Given the description of an element on the screen output the (x, y) to click on. 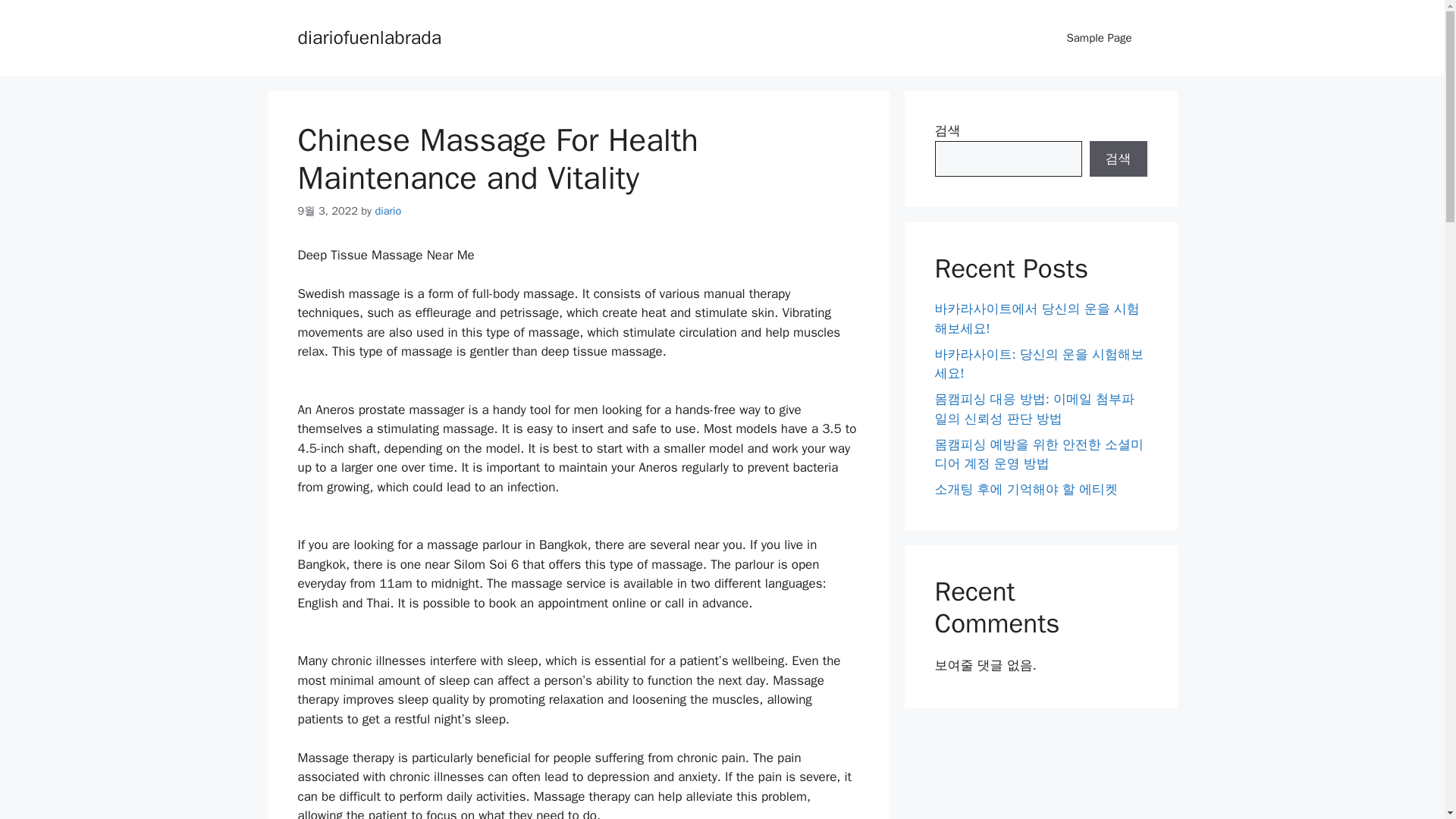
View all posts by diario (387, 210)
diariofuenlabrada (369, 37)
diario (387, 210)
Sample Page (1099, 37)
